Given the description of an element on the screen output the (x, y) to click on. 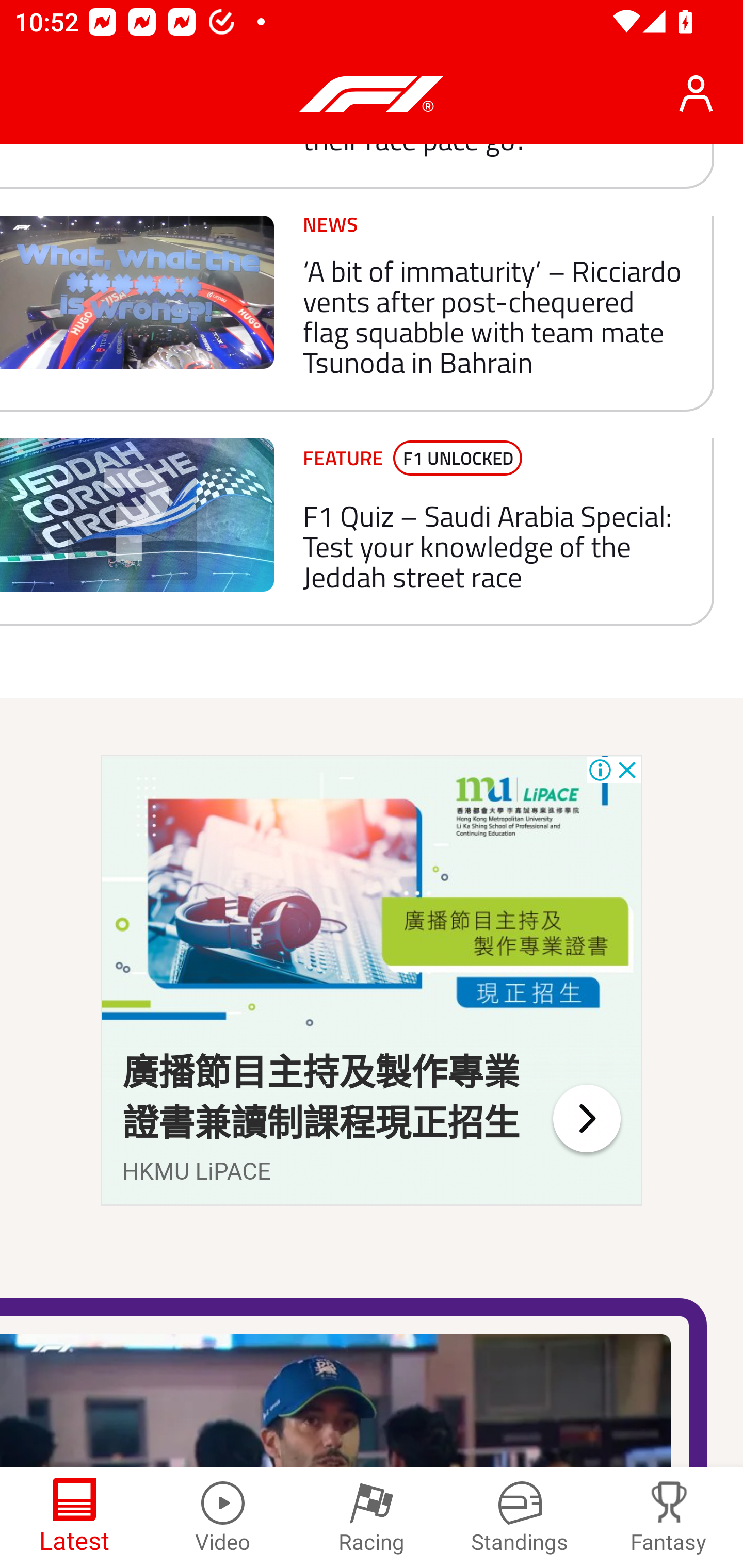
%3Flce%3DGDN_B2023_01 (371, 899)
廣播節目主持及製作專業 證書兼讀制課程現正招生 廣播節目主持及製作專業 證書兼讀制課程現正招生 (321, 1098)
%3Flce%3DGDN_B2023_01 (586, 1118)
HKMU LiPACE (196, 1171)
Video (222, 1517)
Racing (371, 1517)
Standings (519, 1517)
Fantasy (668, 1517)
